Given the description of an element on the screen output the (x, y) to click on. 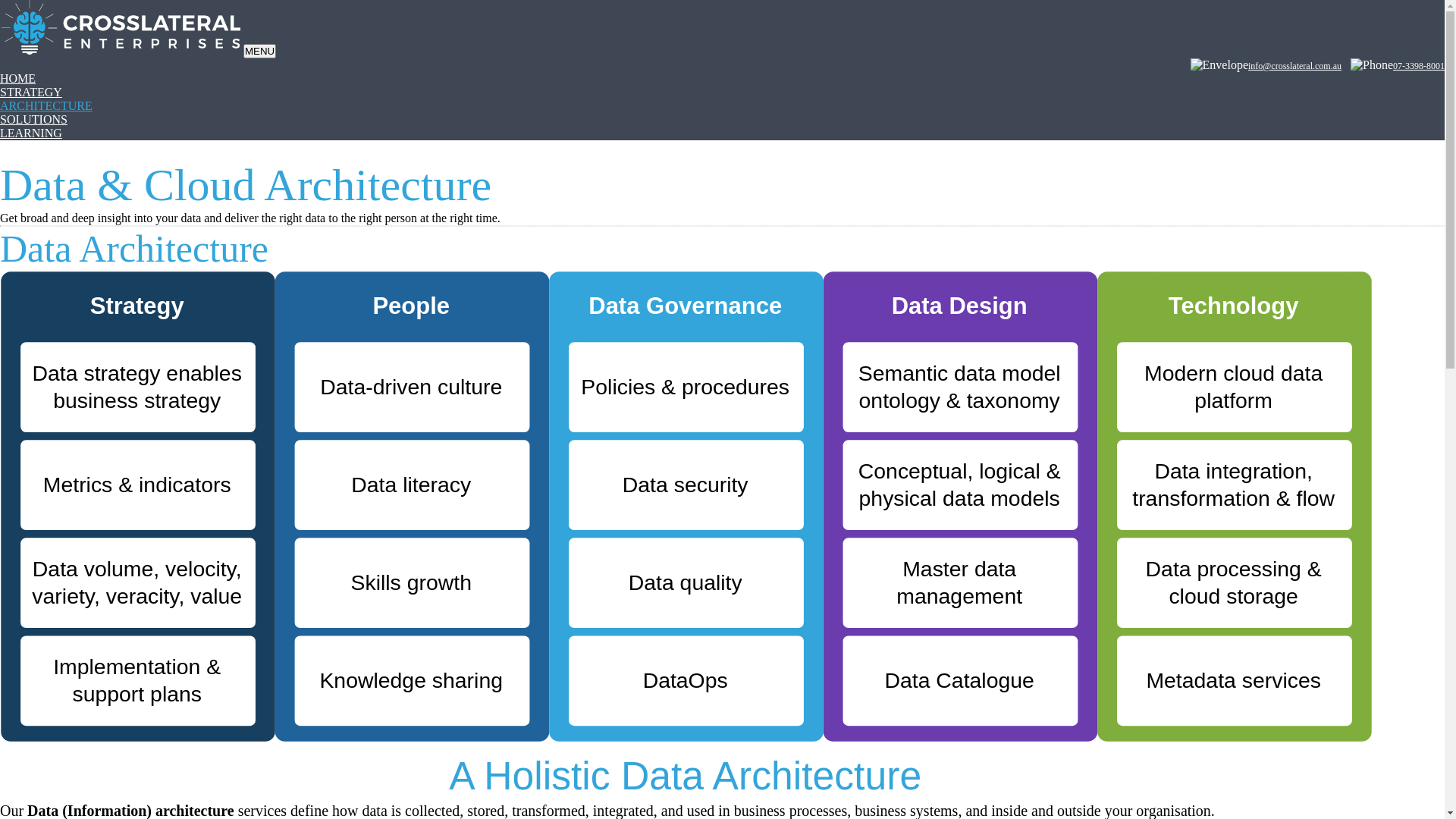
ARCHITECTURE Element type: text (46, 105)
07-3398-8001 Element type: text (1418, 65)
LEARNING Element type: text (31, 132)
STRATEGY Element type: text (31, 91)
SOLUTIONS Element type: text (33, 118)
HOME Element type: text (17, 78)
Data Architecture Element type: hover (686, 534)
MENU Element type: text (259, 50)
info@crosslateral.com.au Element type: text (1294, 65)
